Given the description of an element on the screen output the (x, y) to click on. 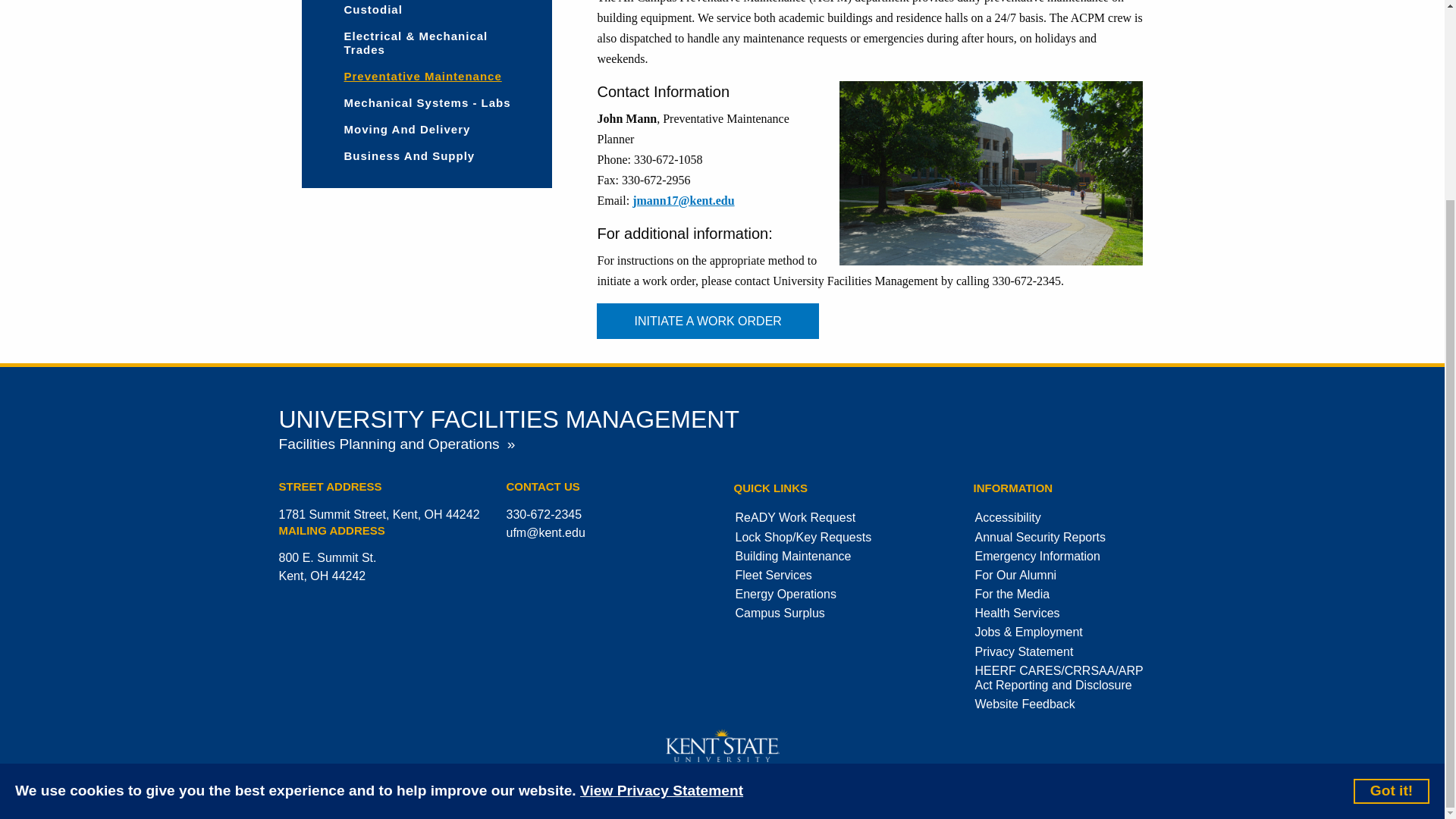
View Privacy Statement (660, 536)
Kent State University logo (721, 745)
MACC (991, 173)
Got it! (1391, 536)
